Given the description of an element on the screen output the (x, y) to click on. 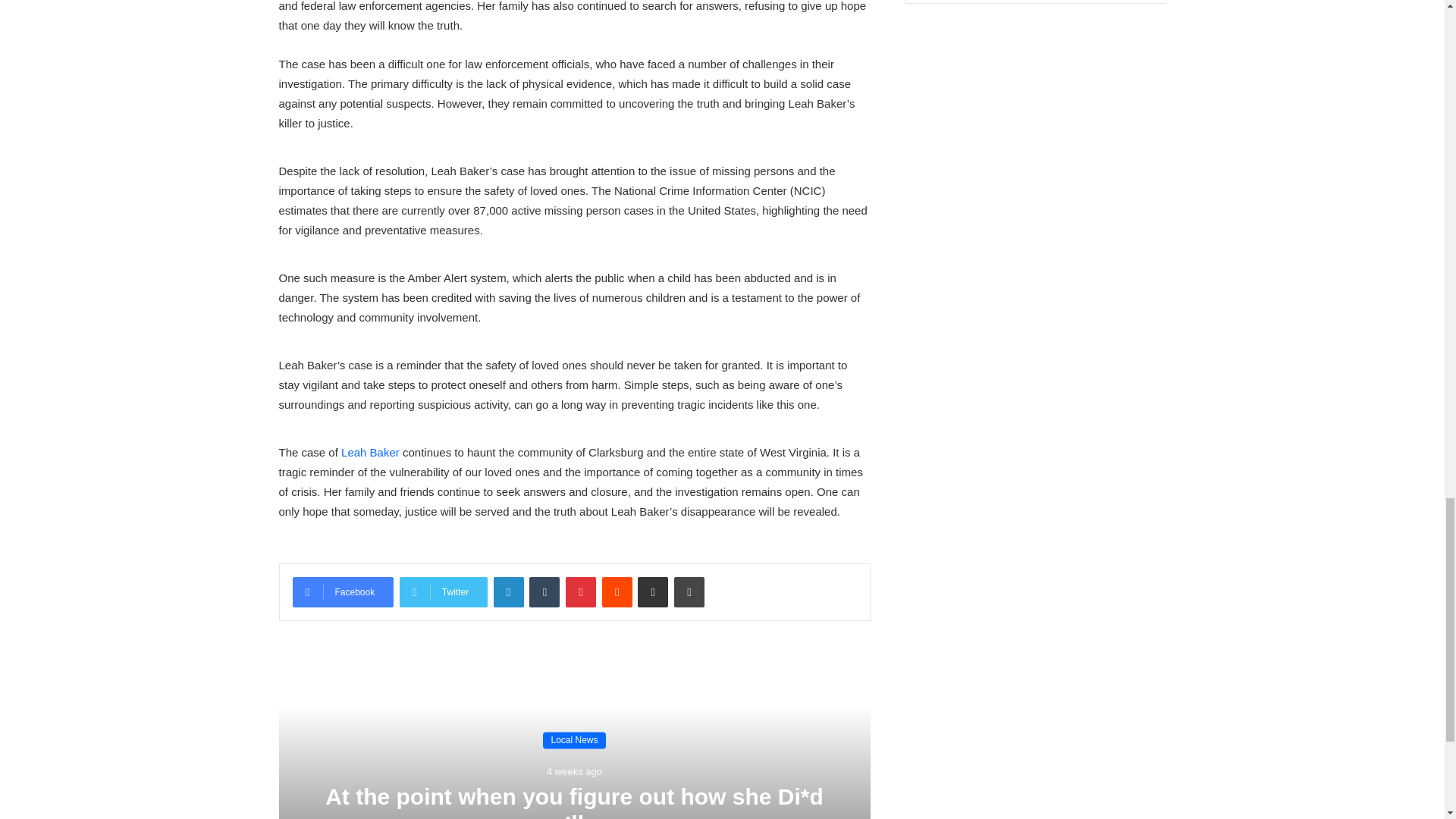
Twitter (442, 592)
Print (689, 592)
Facebook (343, 592)
Local News (574, 740)
Pinterest (580, 592)
Share via Email (652, 592)
Tumblr (544, 592)
Pinterest (580, 592)
Twitter (442, 592)
Tumblr (544, 592)
